Given the description of an element on the screen output the (x, y) to click on. 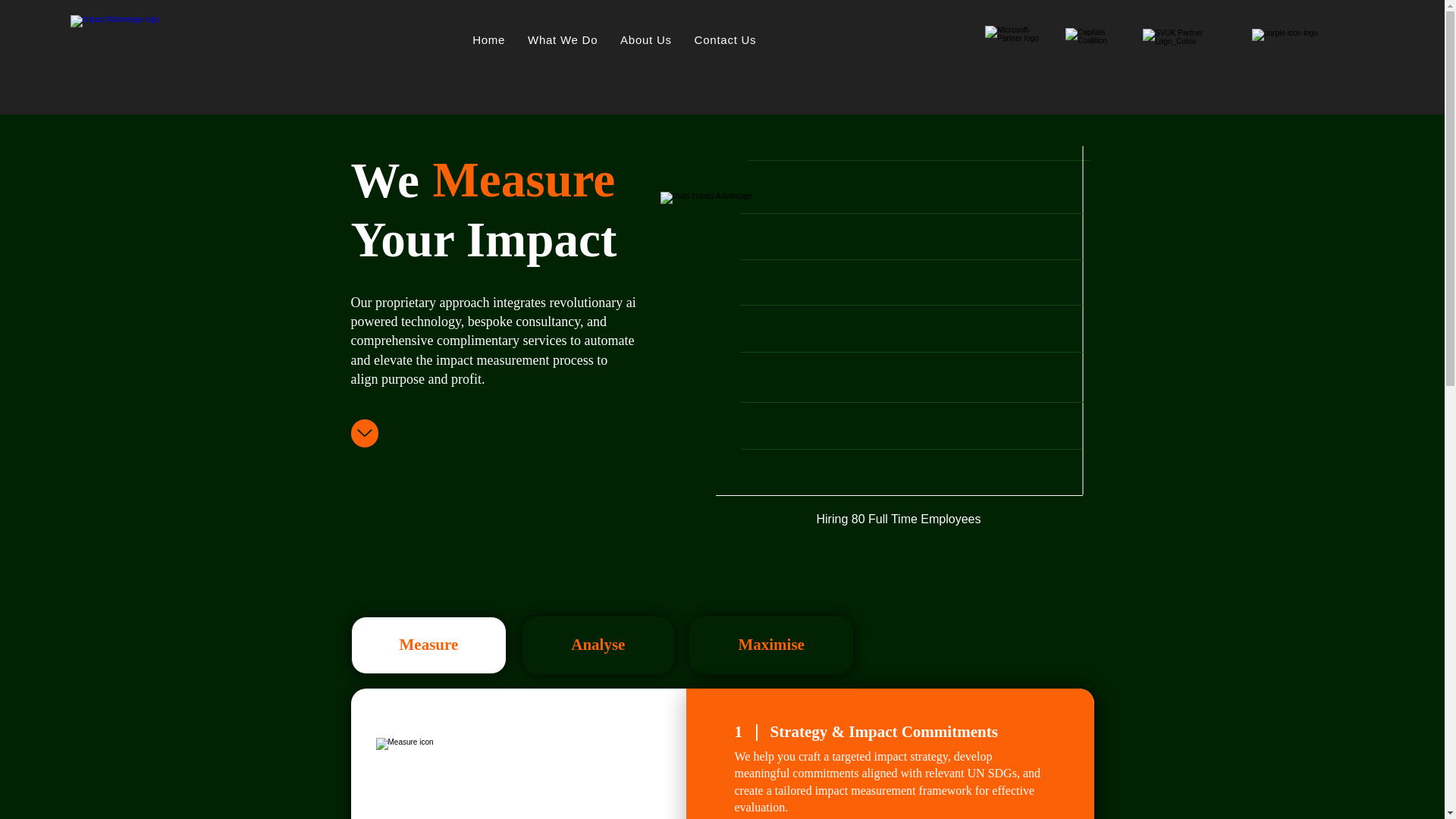
Home (488, 39)
Contact Us (725, 39)
